Given the description of an element on the screen output the (x, y) to click on. 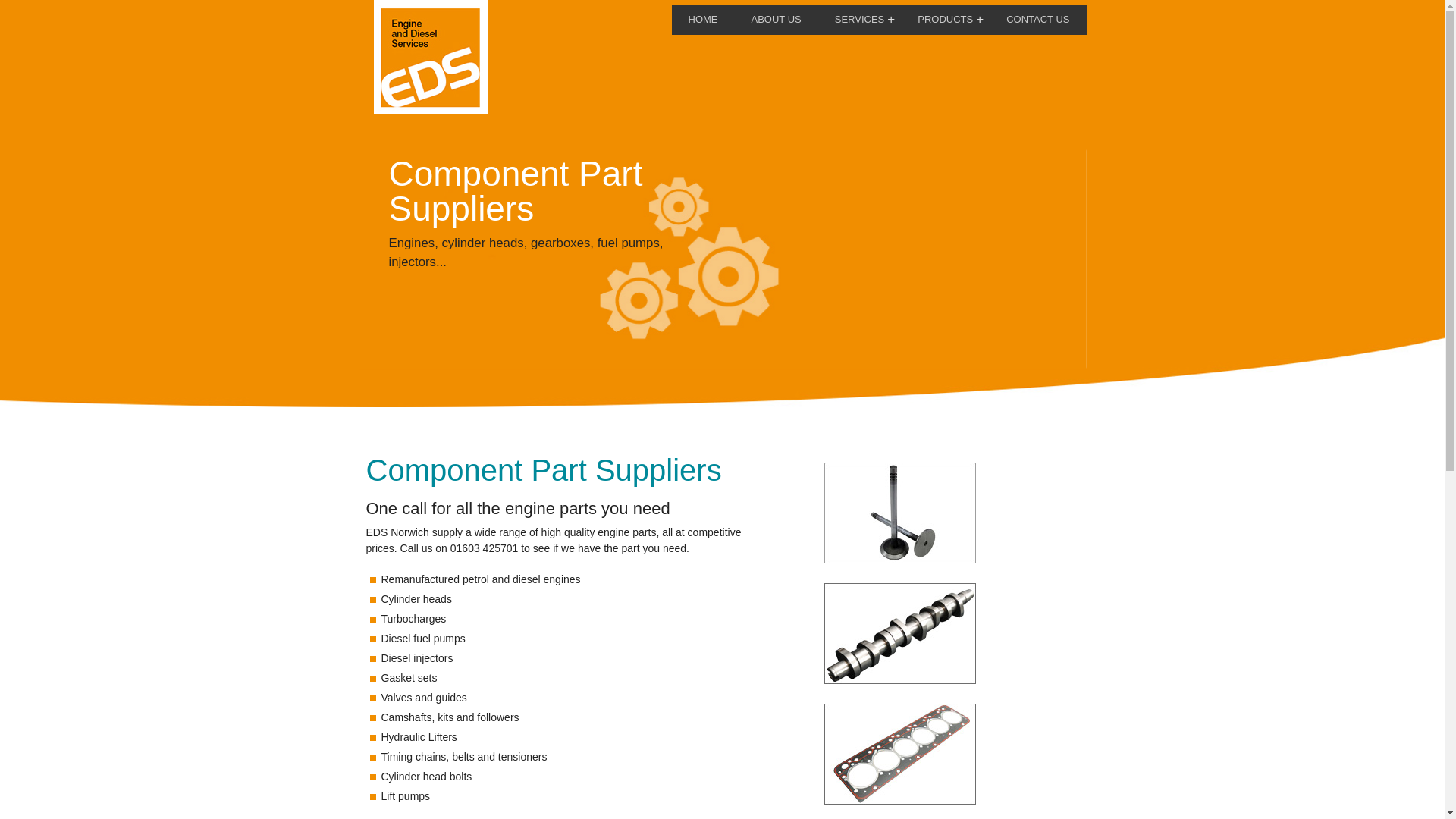
HOME (703, 19)
SERVICES (859, 19)
PRODUCTS (945, 19)
ABOUT US (774, 19)
CONTACT US (1038, 19)
